Given the description of an element on the screen output the (x, y) to click on. 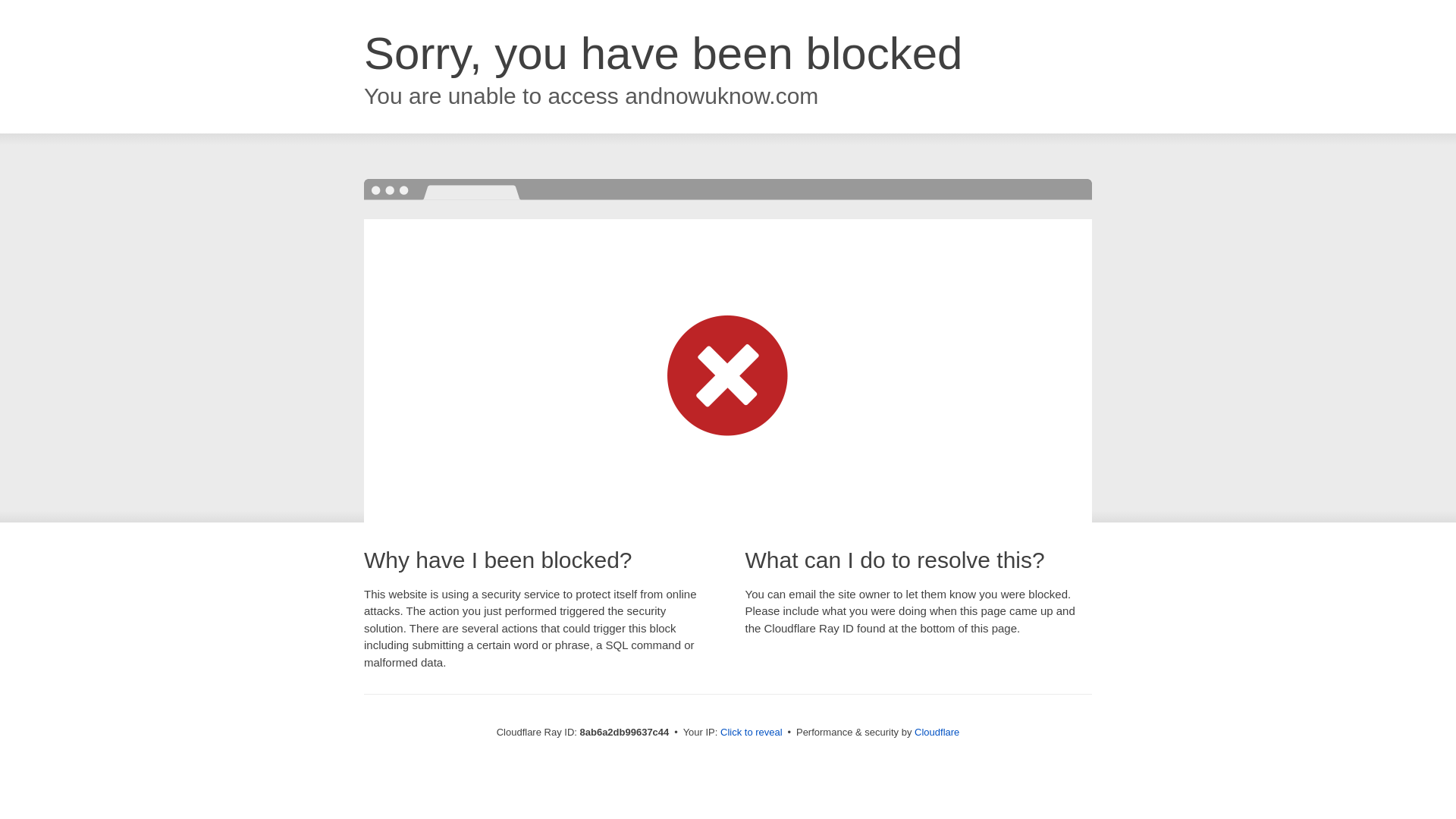
Click to reveal (751, 732)
Cloudflare (936, 731)
